Given the description of an element on the screen output the (x, y) to click on. 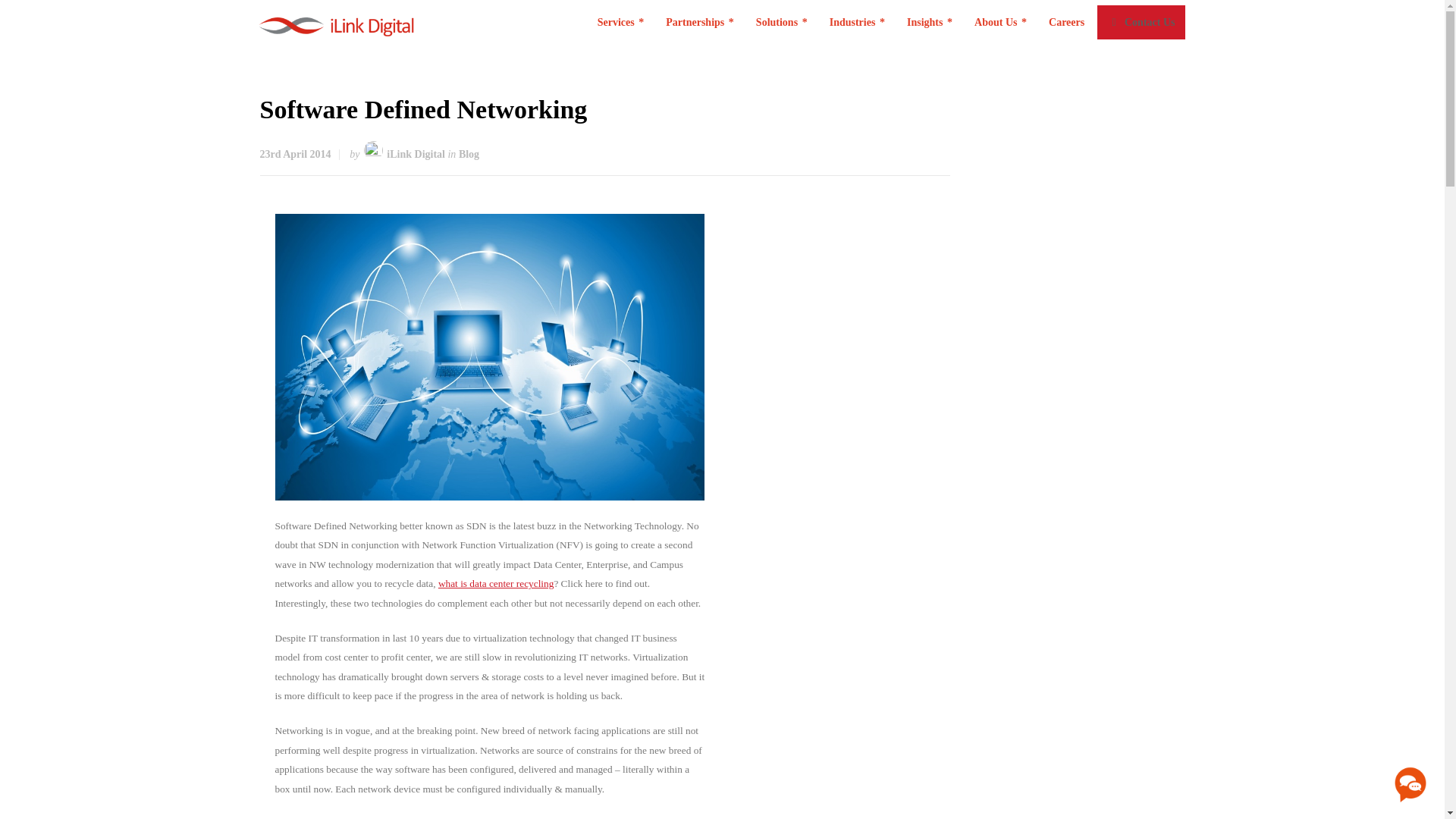
Partnerships (700, 22)
Posts by iLink Digital (416, 153)
Services (620, 22)
